Given the description of an element on the screen output the (x, y) to click on. 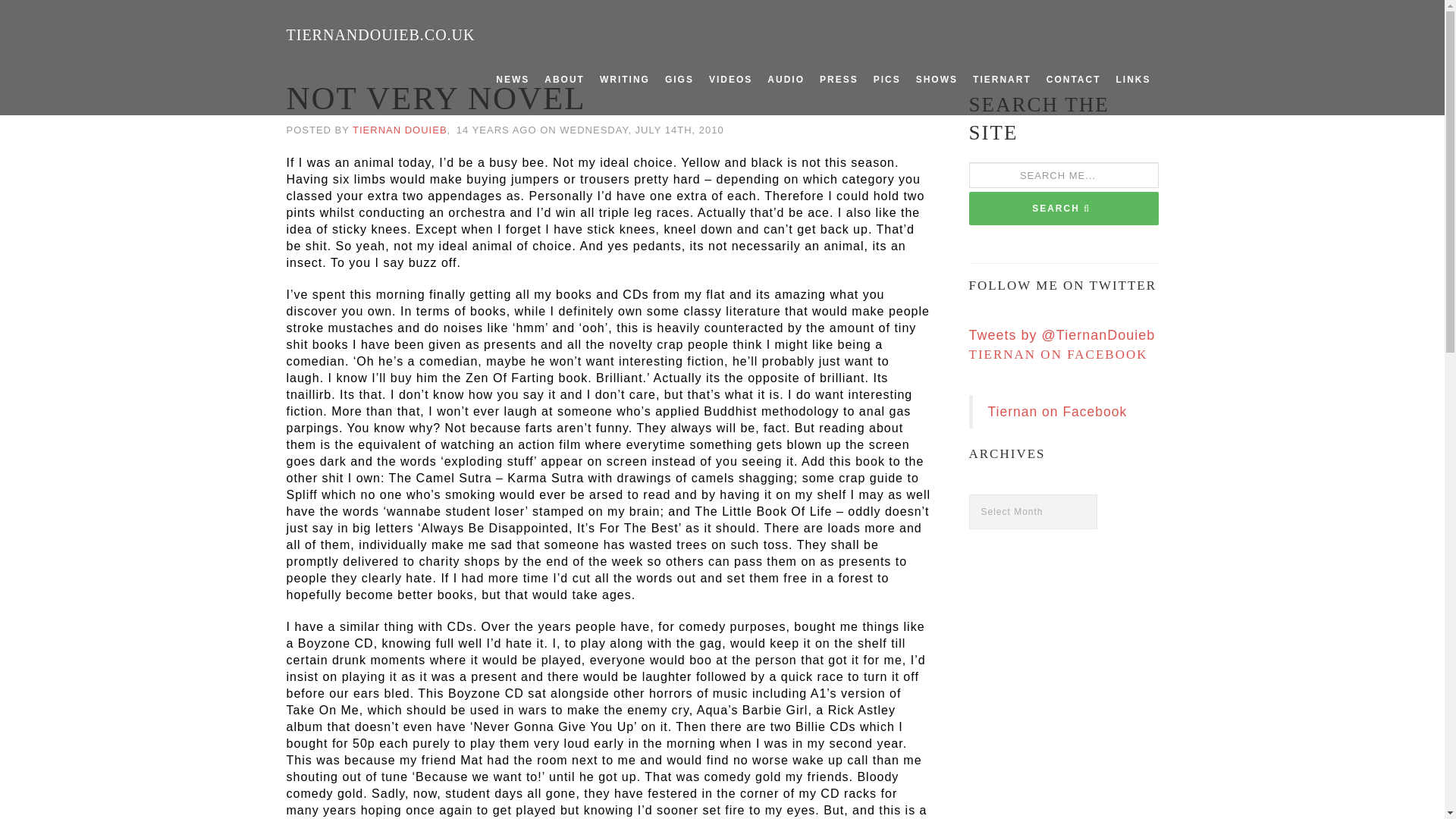
SEARCH (1063, 208)
TIERNAN ON FACEBOOK (1058, 354)
TIERNAN DOUIEB (399, 129)
TIERNART (1002, 79)
Tiernan on Facebook (1056, 411)
CONTACT (1073, 79)
TIERNANDOUIEB.CO.UK (381, 34)
WRITING (625, 79)
